Given the description of an element on the screen output the (x, y) to click on. 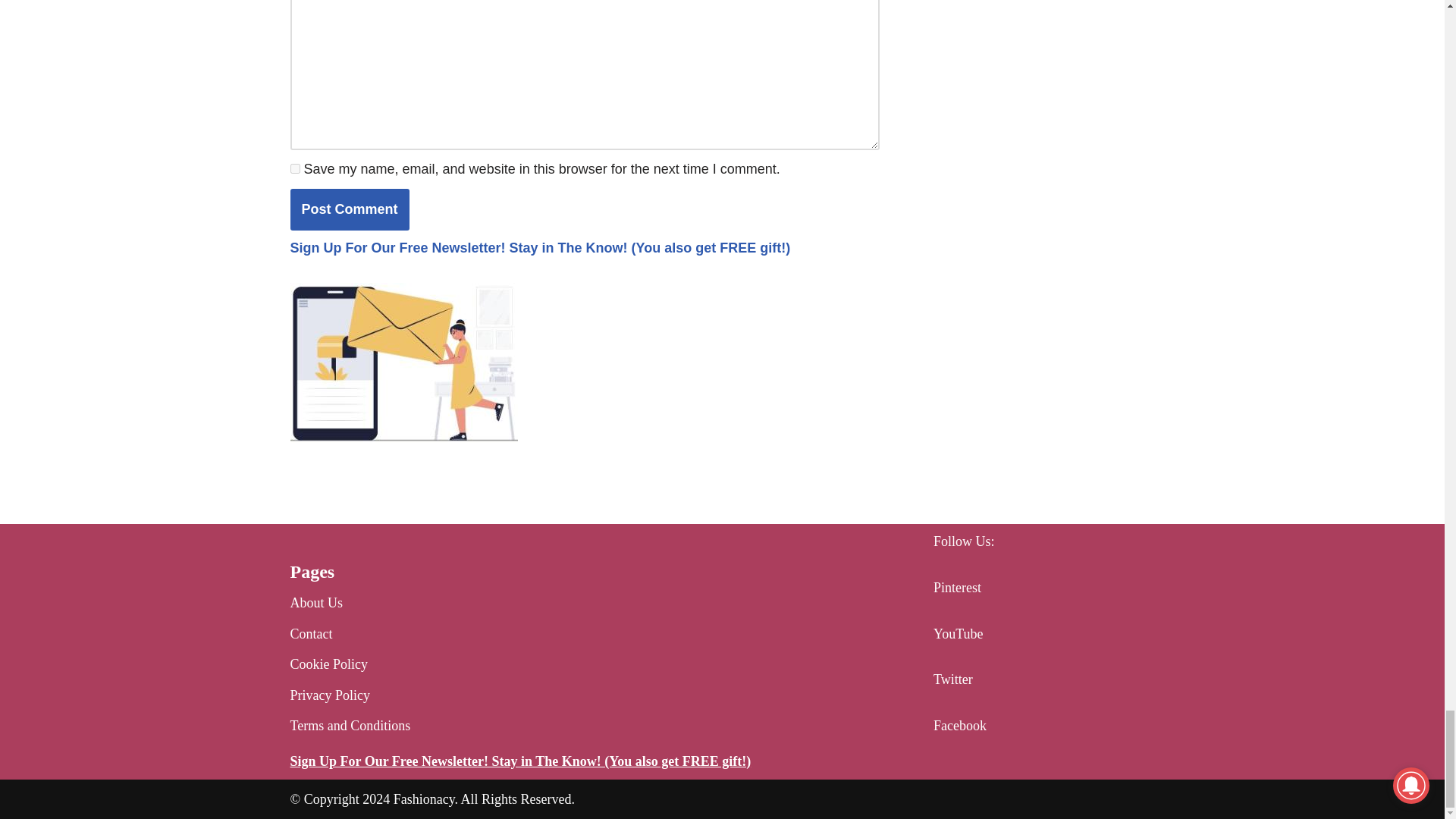
Post Comment (349, 209)
yes (294, 168)
